Given the description of an element on the screen output the (x, y) to click on. 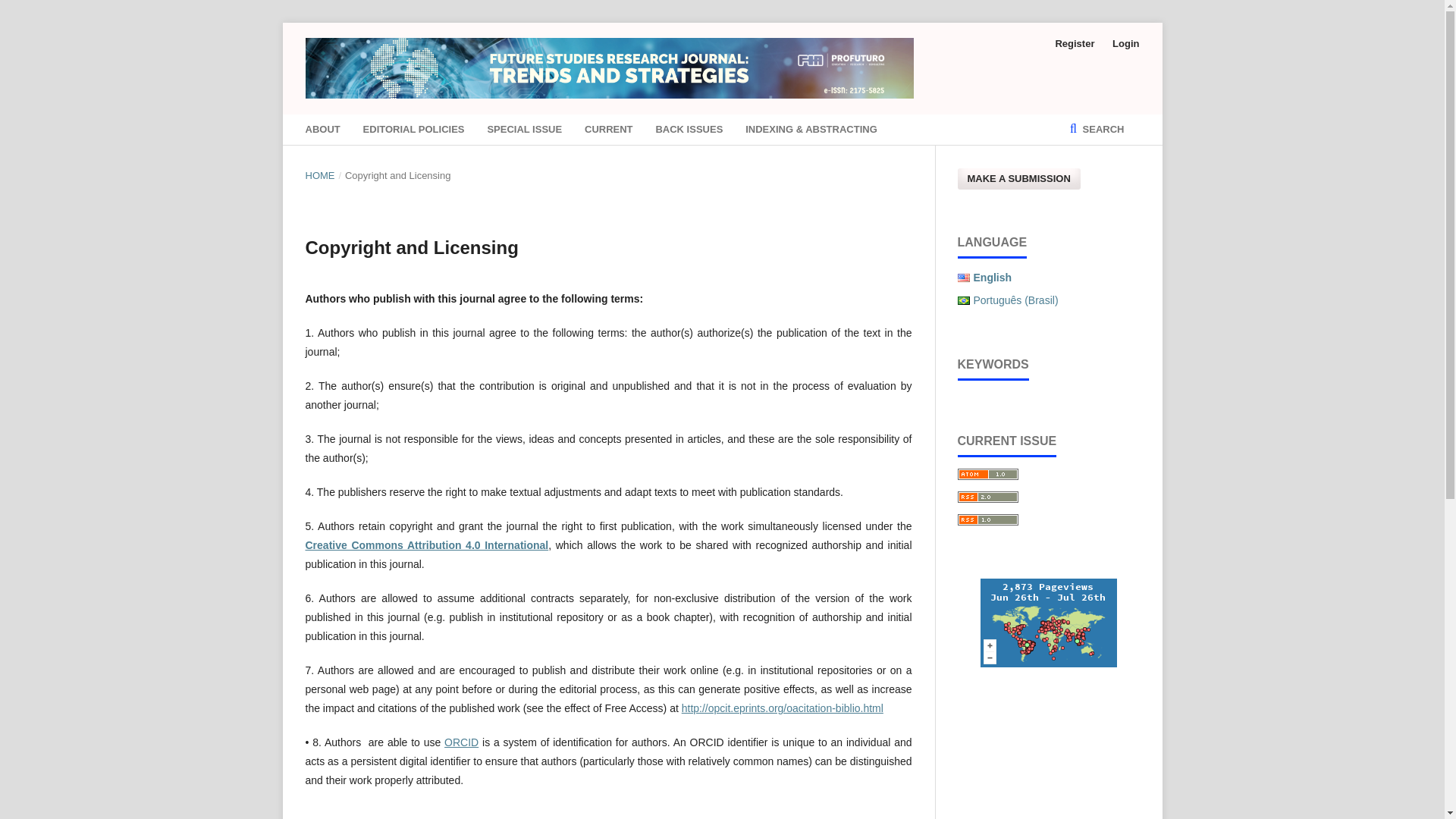
Locations of visitors to this page (1047, 622)
ABOUT (321, 129)
Register (1074, 43)
Login (1121, 43)
CURRENT (609, 129)
BACK ISSUES (688, 129)
SEARCH (1096, 129)
SPECIAL ISSUE (524, 129)
HOME (319, 175)
EDITORIAL POLICIES (413, 129)
